Given the description of an element on the screen output the (x, y) to click on. 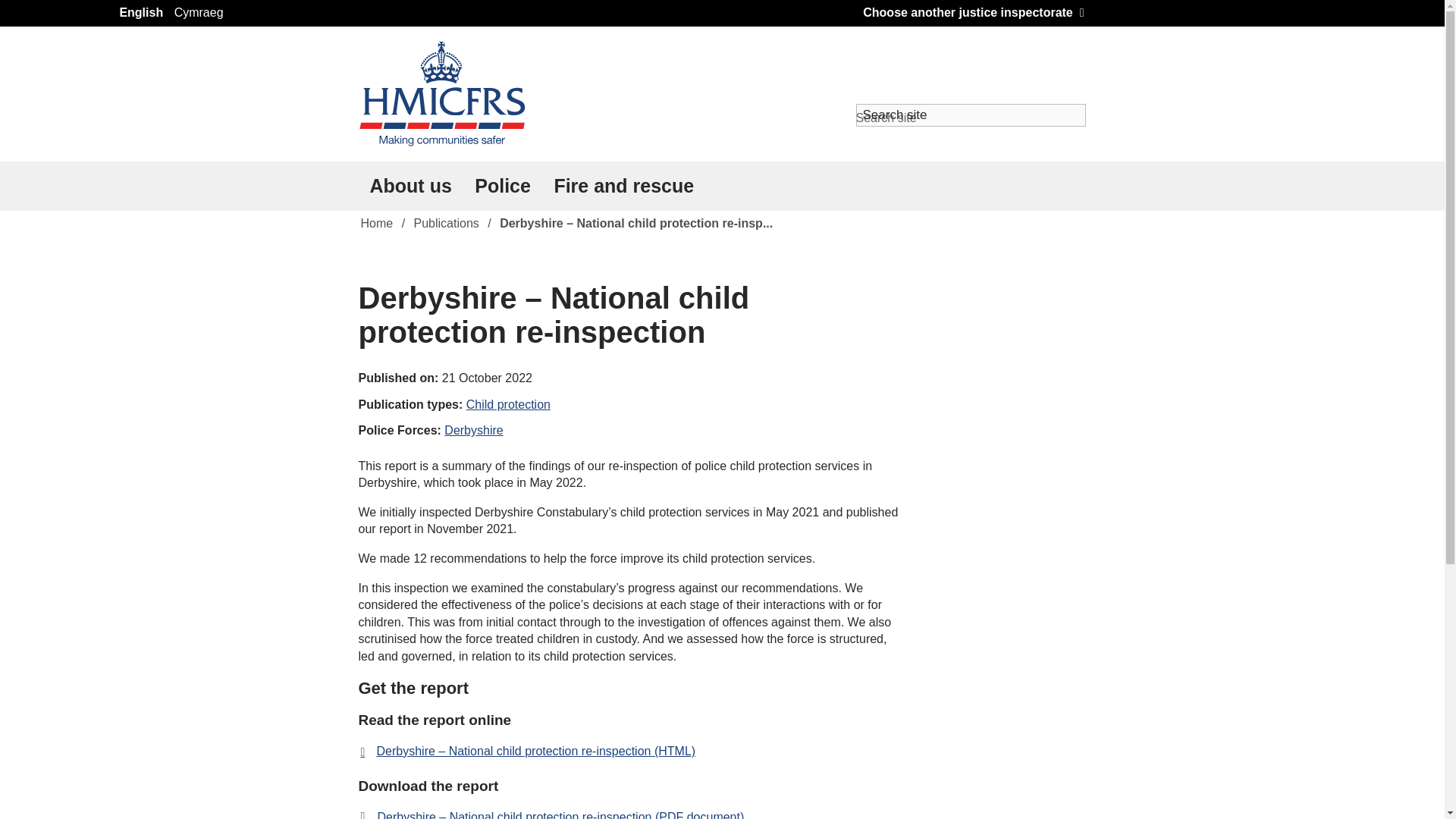
Home (376, 222)
Fire and rescue (622, 185)
Fire and rescue (622, 185)
Police (502, 185)
Publications (446, 222)
About us (410, 185)
Cymraeg (198, 13)
Choose another justice inspectorate   (973, 12)
English (141, 13)
